Given the description of an element on the screen output the (x, y) to click on. 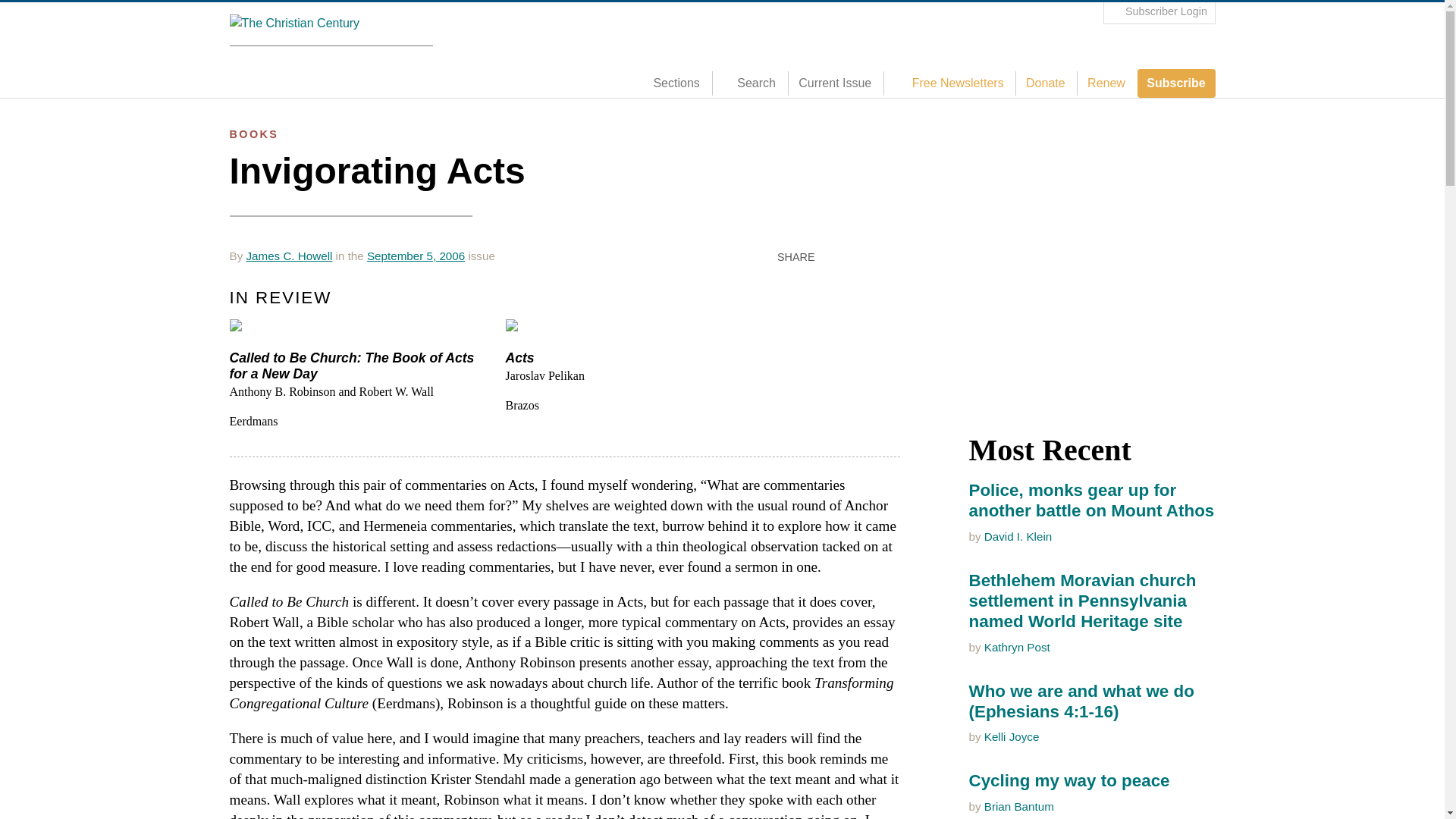
Back to homepage (330, 23)
Current Issue (834, 83)
Free Newsletters (952, 83)
Subscriber Login (1159, 11)
title (753, 83)
Renew (1105, 83)
Donate (1045, 83)
Subscribe (1176, 82)
